Given the description of an element on the screen output the (x, y) to click on. 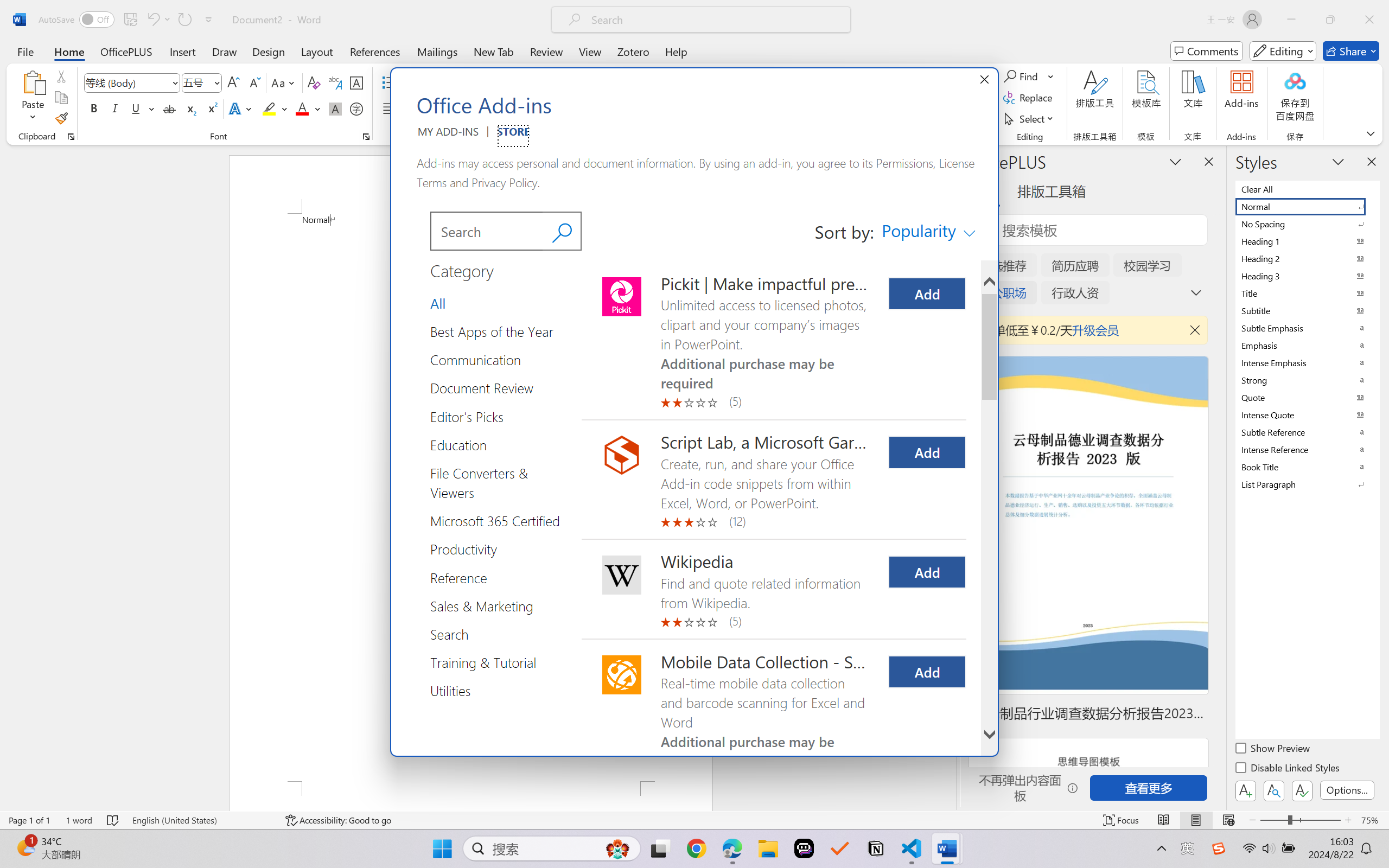
Category Group All selected 1 of 14 (442, 302)
Focus  (1121, 819)
Class: MsoCommandBar (694, 819)
Clear Formatting (313, 82)
Add Mobile Data Collection - Scan-IT to Office (926, 671)
Undo Apply Quick Style (158, 19)
References (928, 231)
Office Clipboard... (375, 51)
Category Group File Converters & Viewers 7 of 14 (70, 136)
